Given the description of an element on the screen output the (x, y) to click on. 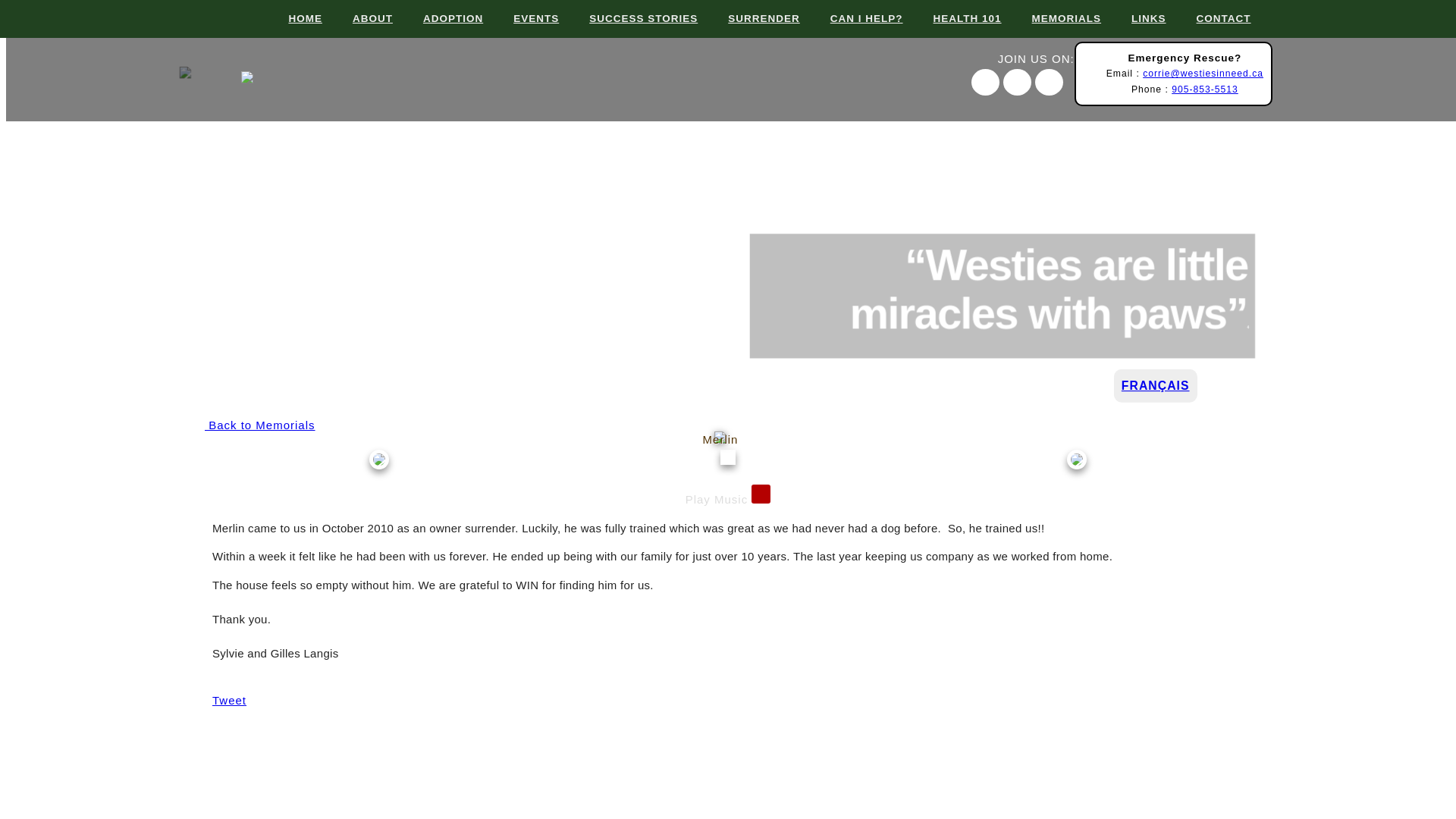
SUCCESS STORIES (631, 18)
ABOUT (361, 18)
ADOPTION (441, 18)
MEMORIALS (1055, 18)
LINKS (1137, 18)
CAN I HELP? (855, 18)
905-853-5513 (1205, 88)
 Back to Memorials (260, 424)
EVENTS (524, 18)
SURRENDER (751, 18)
Play Music (728, 499)
CONTACT (1211, 18)
HEALTH 101 (955, 18)
HOME (293, 18)
